Given the description of an element on the screen output the (x, y) to click on. 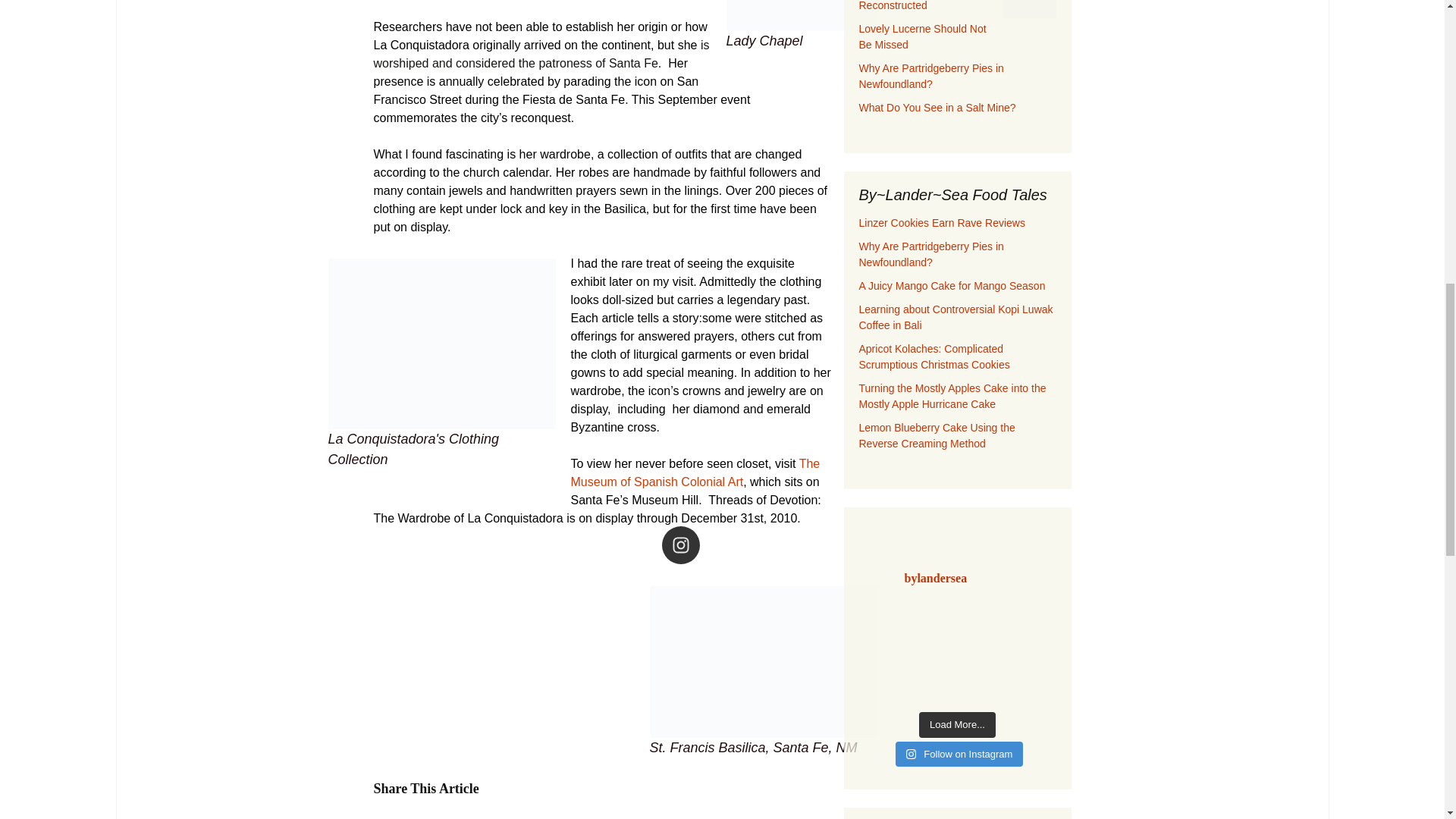
Nearly Lost, Philae Temple Reconstructed (921, 5)
The Museum of Spanish Colonial Art (694, 472)
Lovely Lucerne Should Not Be Missed (922, 36)
untitled-2 (762, 661)
Why Are Partridgeberry Pies in Newfoundland? (931, 76)
untitled-1 (440, 343)
